Given the description of an element on the screen output the (x, y) to click on. 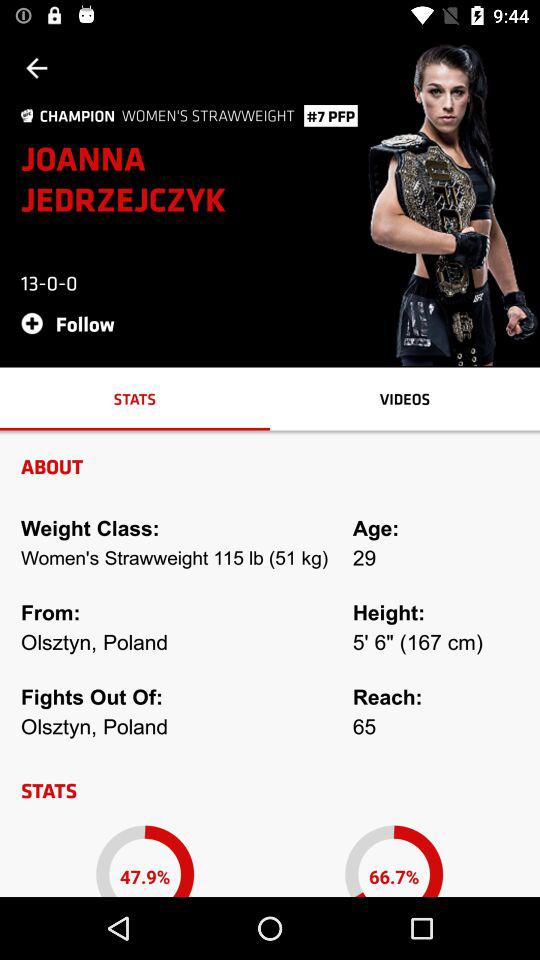
go to previous (36, 68)
